Given the description of an element on the screen output the (x, y) to click on. 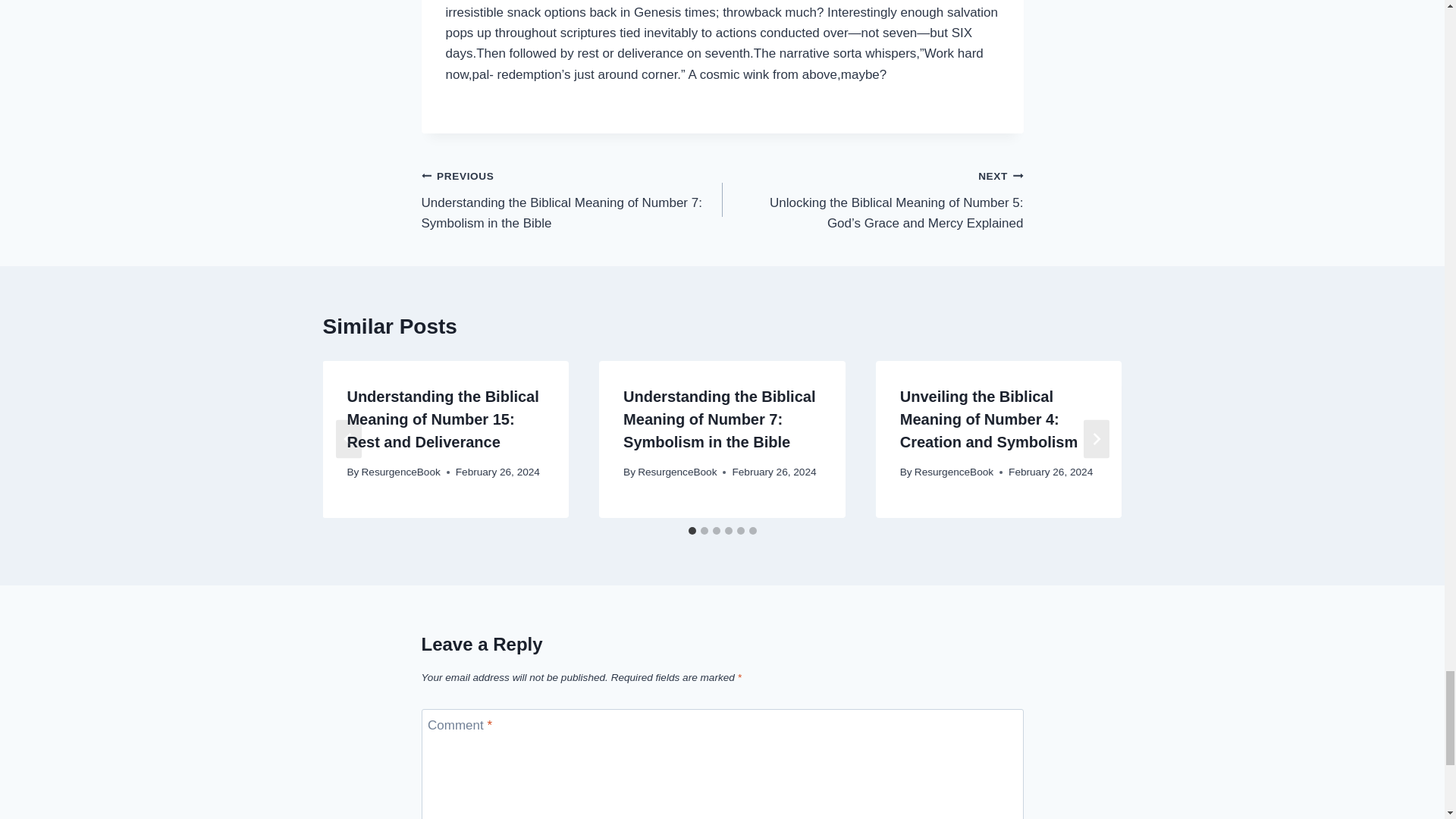
ResurgenceBook (401, 471)
